Given the description of an element on the screen output the (x, y) to click on. 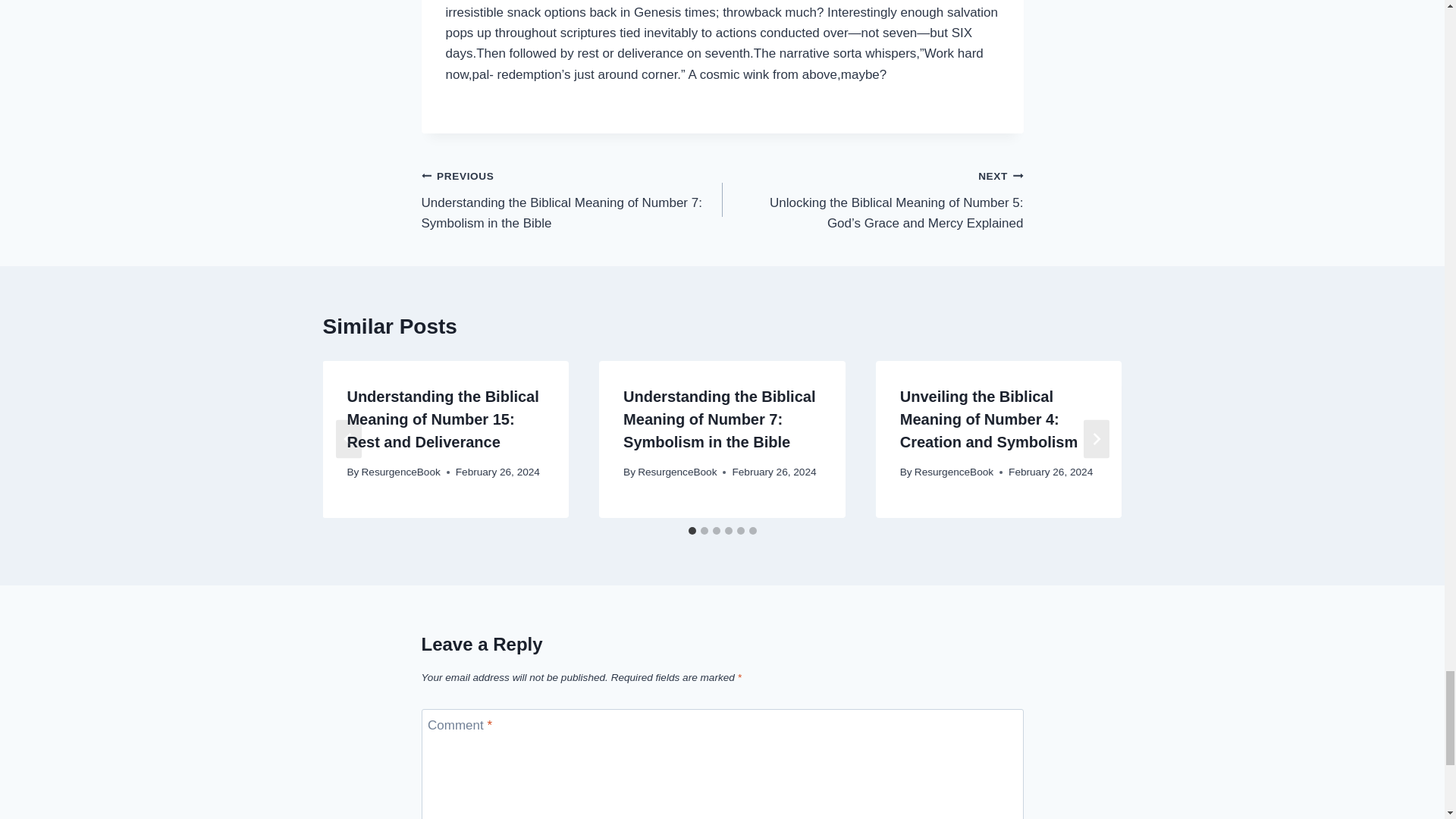
ResurgenceBook (401, 471)
